Given the description of an element on the screen output the (x, y) to click on. 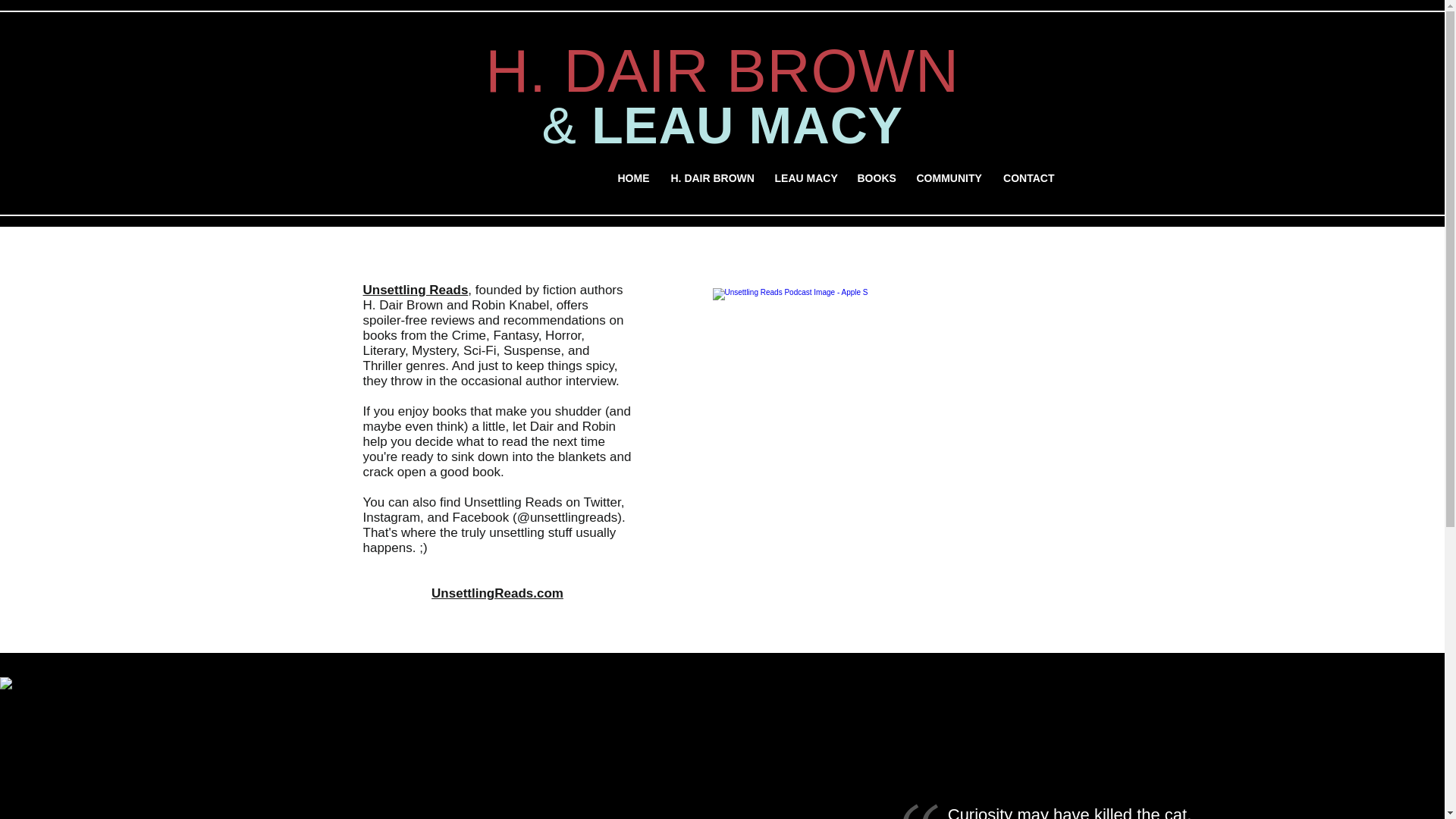
COMMUNITY (948, 178)
LEAU MACY (803, 178)
CONTACT (1028, 178)
H. DAIR BROWN (710, 178)
BOOKS (875, 178)
HOME (633, 178)
UnsettlingReads.com (496, 593)
Unsettling Reads (414, 289)
